Given the description of an element on the screen output the (x, y) to click on. 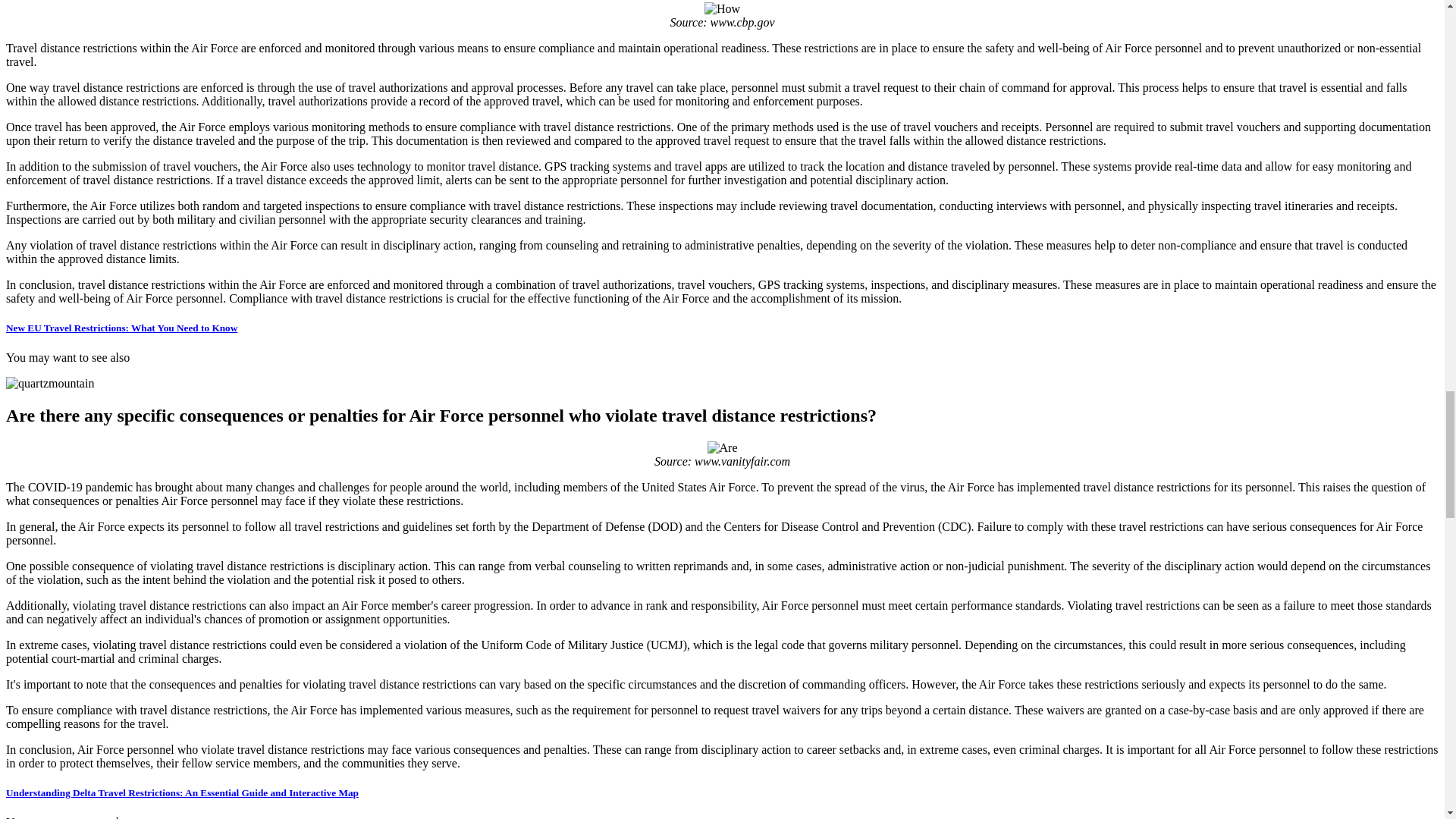
New EU Travel Restrictions: What You Need to Know (121, 327)
